Given the description of an element on the screen output the (x, y) to click on. 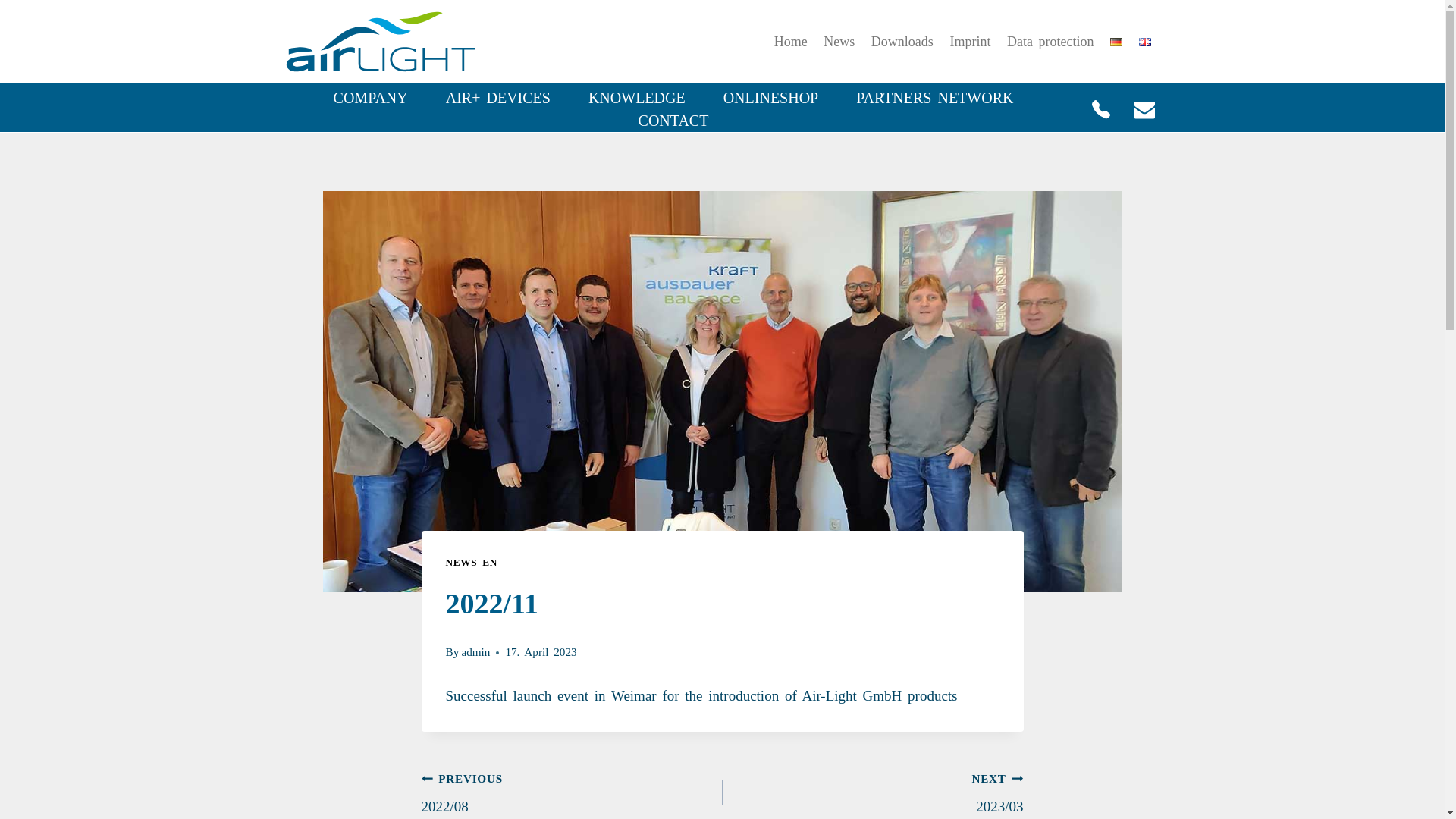
admin (475, 651)
PARTNERS NETWORK (934, 97)
ONLINESHOP (771, 97)
Downloads (902, 41)
CONTACT (674, 119)
News (839, 41)
NEWS EN (471, 562)
KNOWLEDGE (636, 97)
Data protection (1050, 41)
Imprint (970, 41)
Home (790, 41)
COMPANY (370, 97)
